Given the description of an element on the screen output the (x, y) to click on. 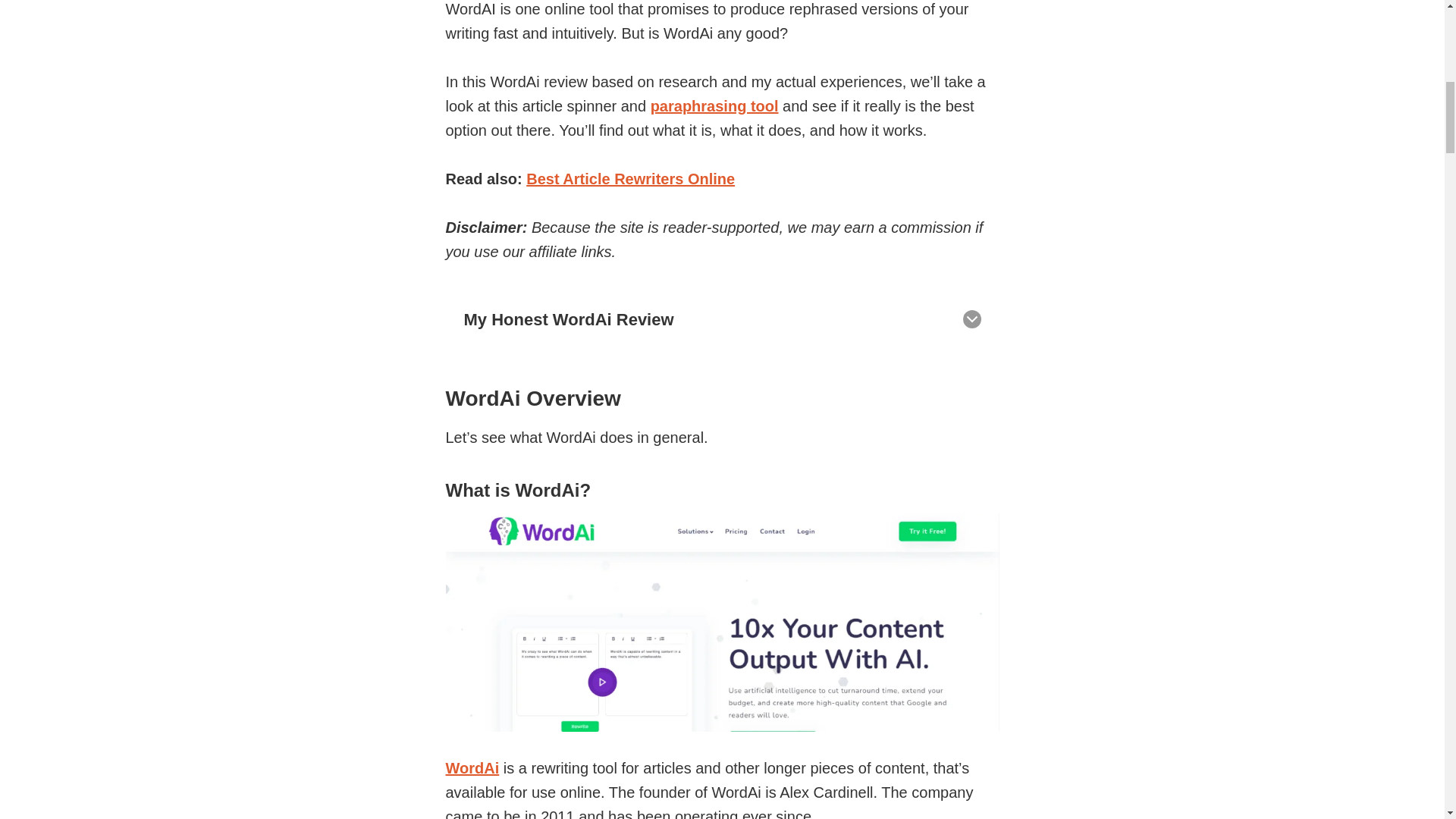
paraphrasing tool (714, 105)
Best Article Rewriters Online (630, 178)
WordAi (472, 768)
